Given the description of an element on the screen output the (x, y) to click on. 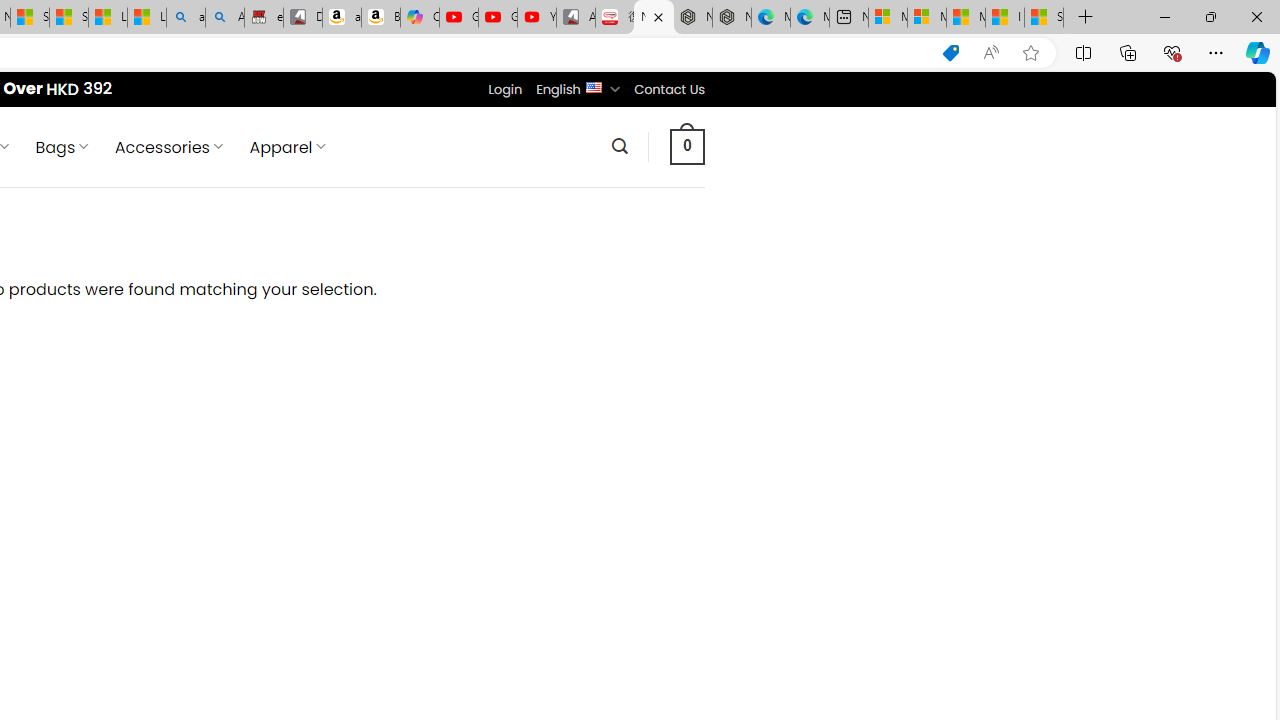
Microsoft account | Privacy (926, 17)
amazon.in/dp/B0CX59H5W7/?tag=gsmcom05-21 (341, 17)
Login (505, 89)
amazon - Search (185, 17)
